Given the description of an element on the screen output the (x, y) to click on. 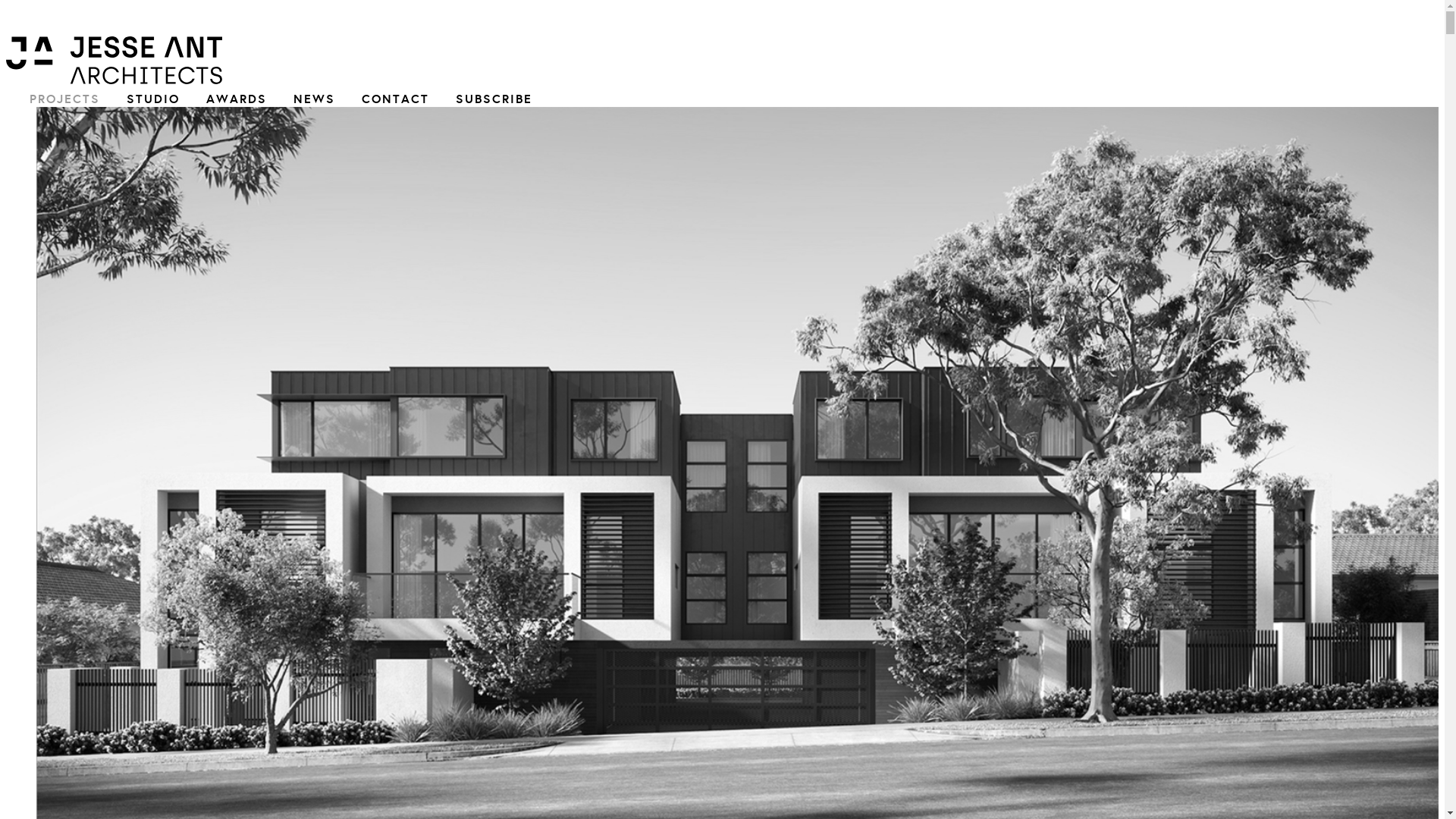
CONTACT Element type: text (395, 98)
PROJECTS Element type: text (64, 98)
AWARDS Element type: text (236, 98)
STUDIO Element type: text (152, 98)
SUBSCRIBE Element type: text (493, 98)
NEWS Element type: text (314, 98)
Enter Element type: text (714, 431)
